Given the description of an element on the screen output the (x, y) to click on. 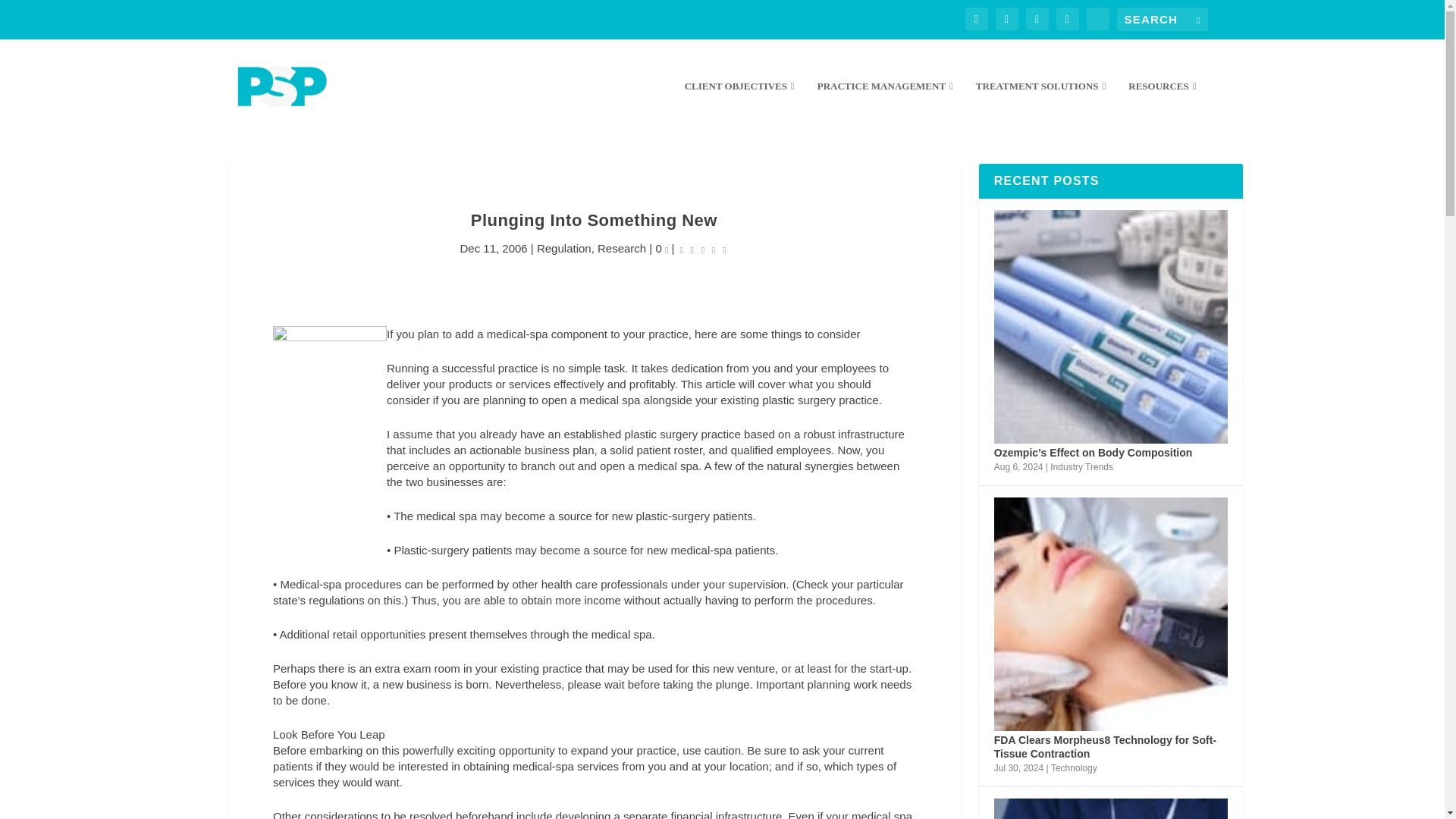
PRACTICE MANAGEMENT (884, 106)
FDA Clears Morpheus8 Technology for Soft-Tissue Contraction (1110, 614)
RESOURCES (1161, 106)
Rating: 0.00 (703, 248)
TREATMENT SOLUTIONS (1040, 106)
Research (621, 247)
Search for: (1161, 19)
CLIENT OBJECTIVES (739, 106)
Regulation (564, 247)
0 (661, 247)
